Given the description of an element on the screen output the (x, y) to click on. 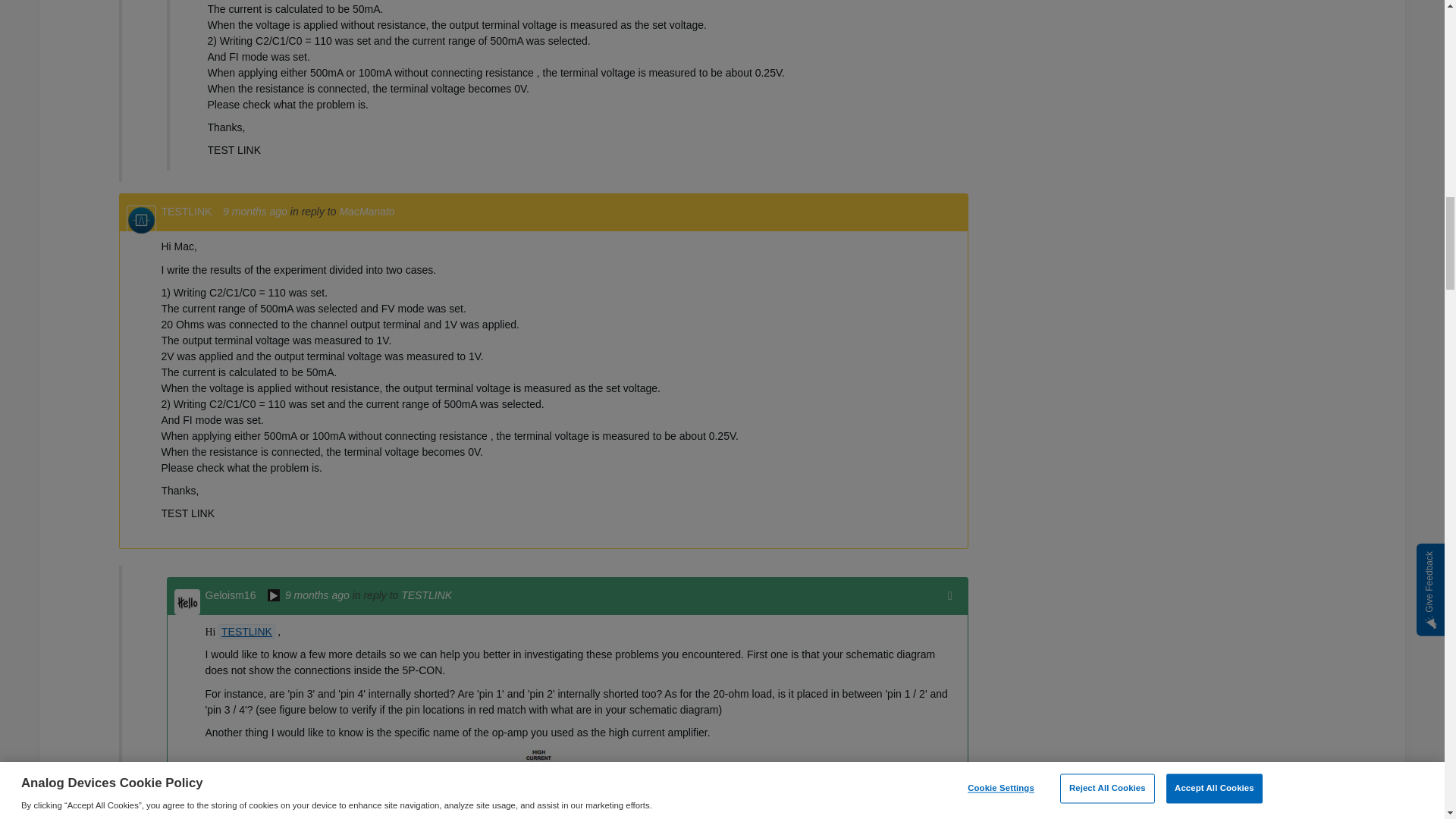
Analog Employees (273, 596)
